Given the description of an element on the screen output the (x, y) to click on. 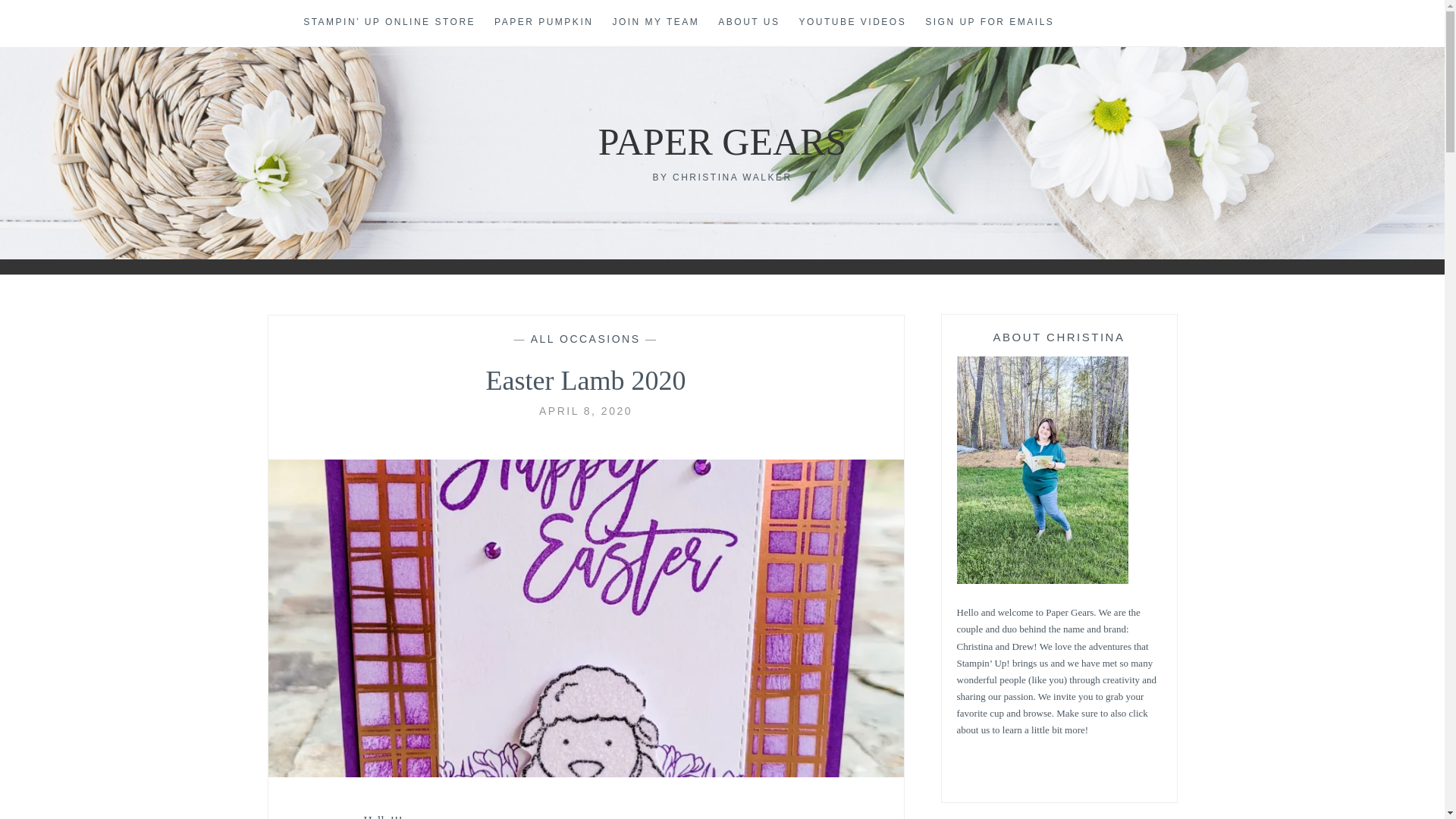
SIGN UP FOR EMAILS (989, 22)
Search (42, 19)
PAPER PUMPKIN (543, 22)
ABOUT US (747, 22)
JOIN MY TEAM (654, 22)
ALL OCCASIONS (585, 338)
YOUTUBE VIDEOS (853, 22)
PAPER GEARS (721, 141)
